Given the description of an element on the screen output the (x, y) to click on. 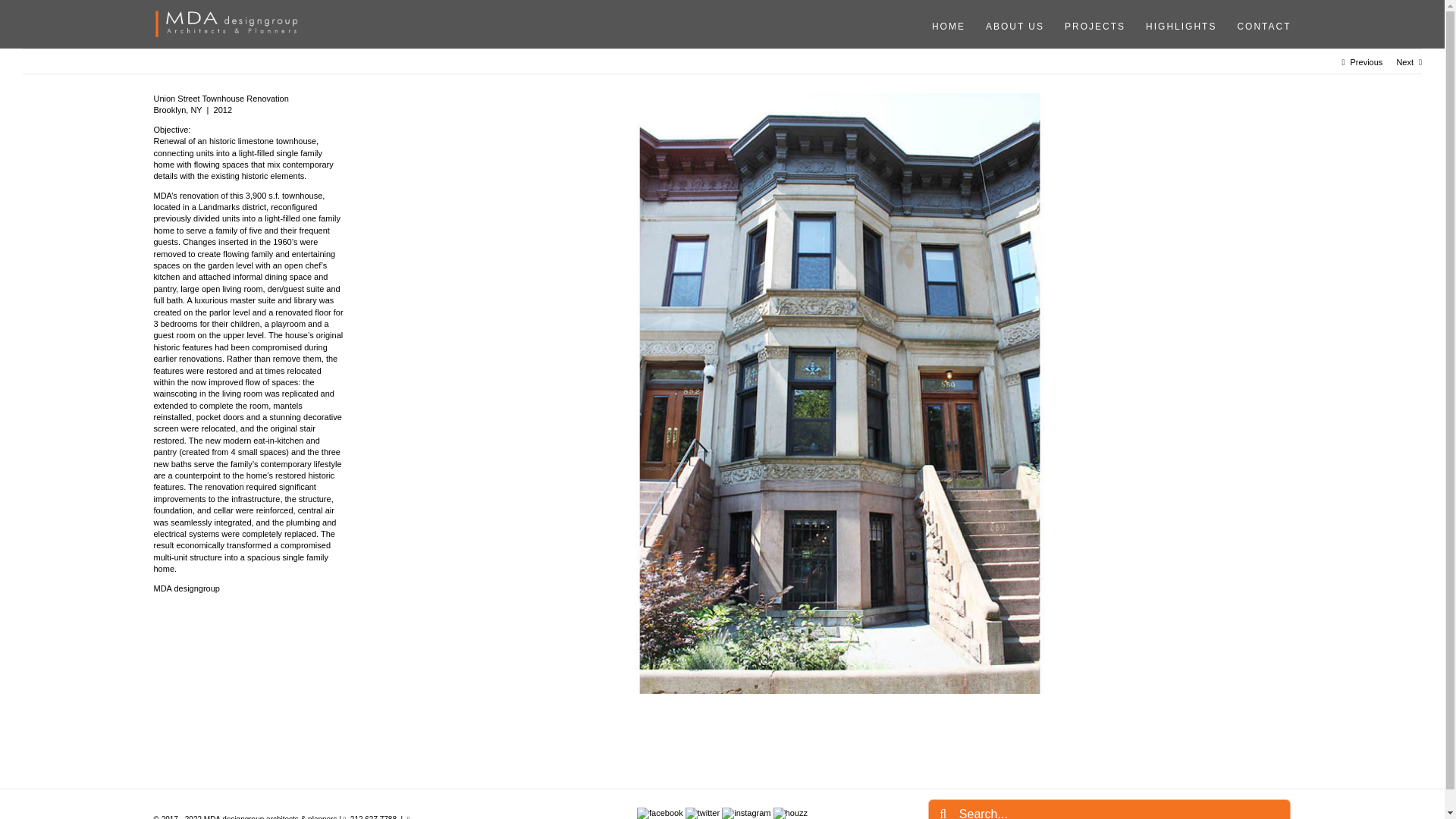
PROJECTS (1089, 26)
CONTACT (1258, 26)
HOME (943, 26)
Previous (1367, 62)
HIGHLIGHTS (1175, 26)
ABOUT US (1009, 26)
